Given the description of an element on the screen output the (x, y) to click on. 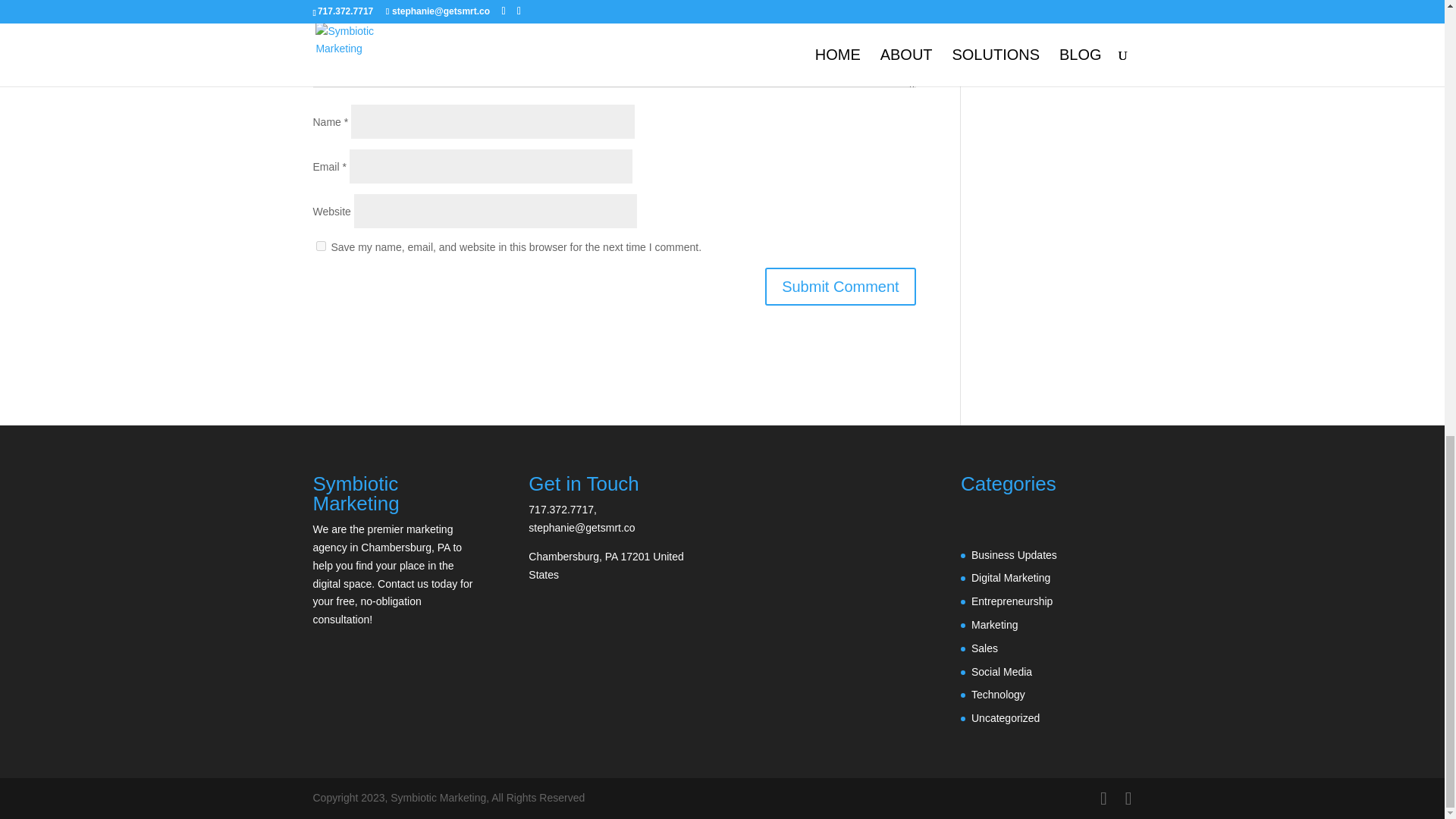
yes (319, 245)
Uncategorized (1005, 717)
Marketing (994, 624)
Digital Marketing (1010, 577)
Submit Comment (840, 285)
Submit Comment (840, 285)
Entrepreneurship (1011, 601)
Social Media (1001, 671)
Sales (984, 648)
Business Updates (1014, 554)
